Given the description of an element on the screen output the (x, y) to click on. 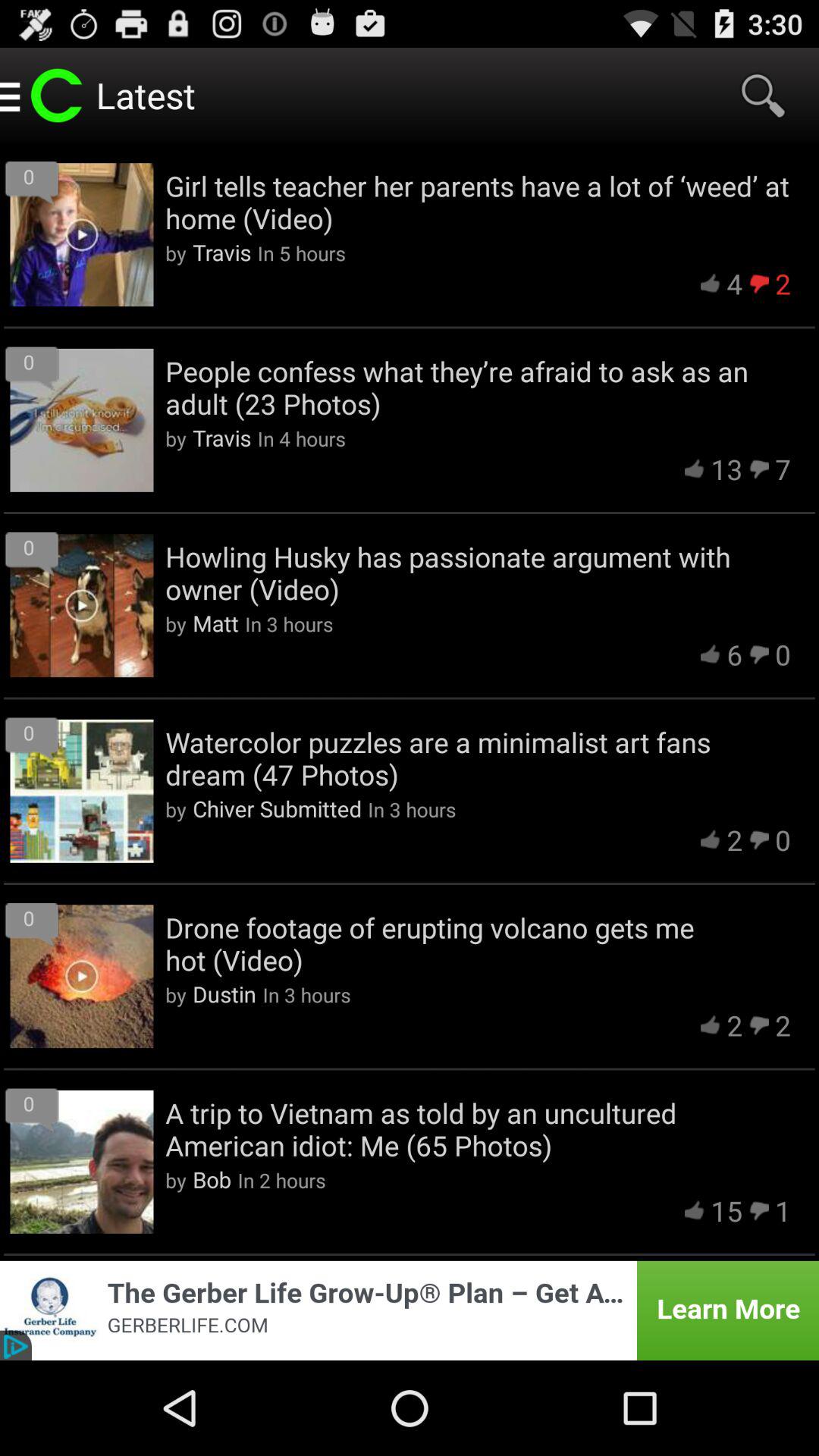
choose the app next to the by app (276, 808)
